Given the description of an element on the screen output the (x, y) to click on. 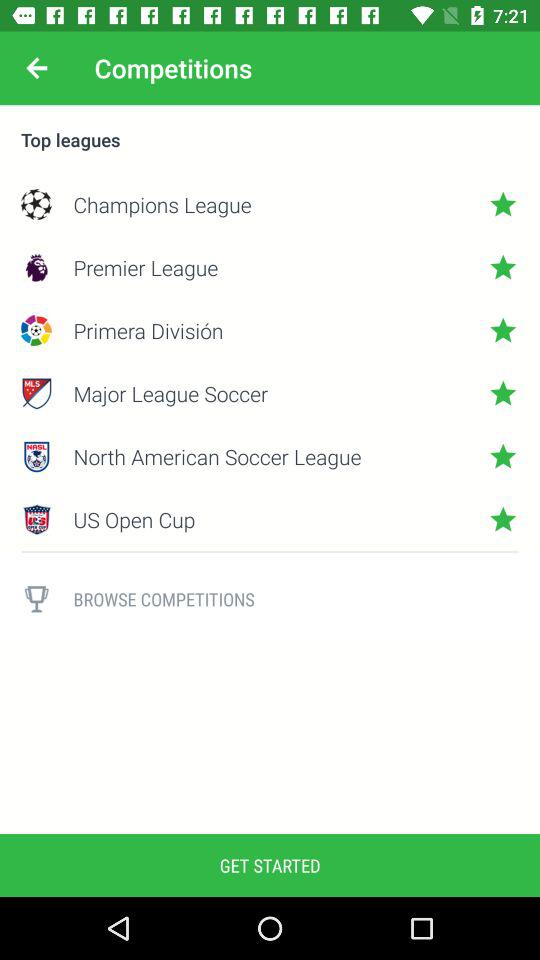
click icon next to the competitions (36, 68)
